Given the description of an element on the screen output the (x, y) to click on. 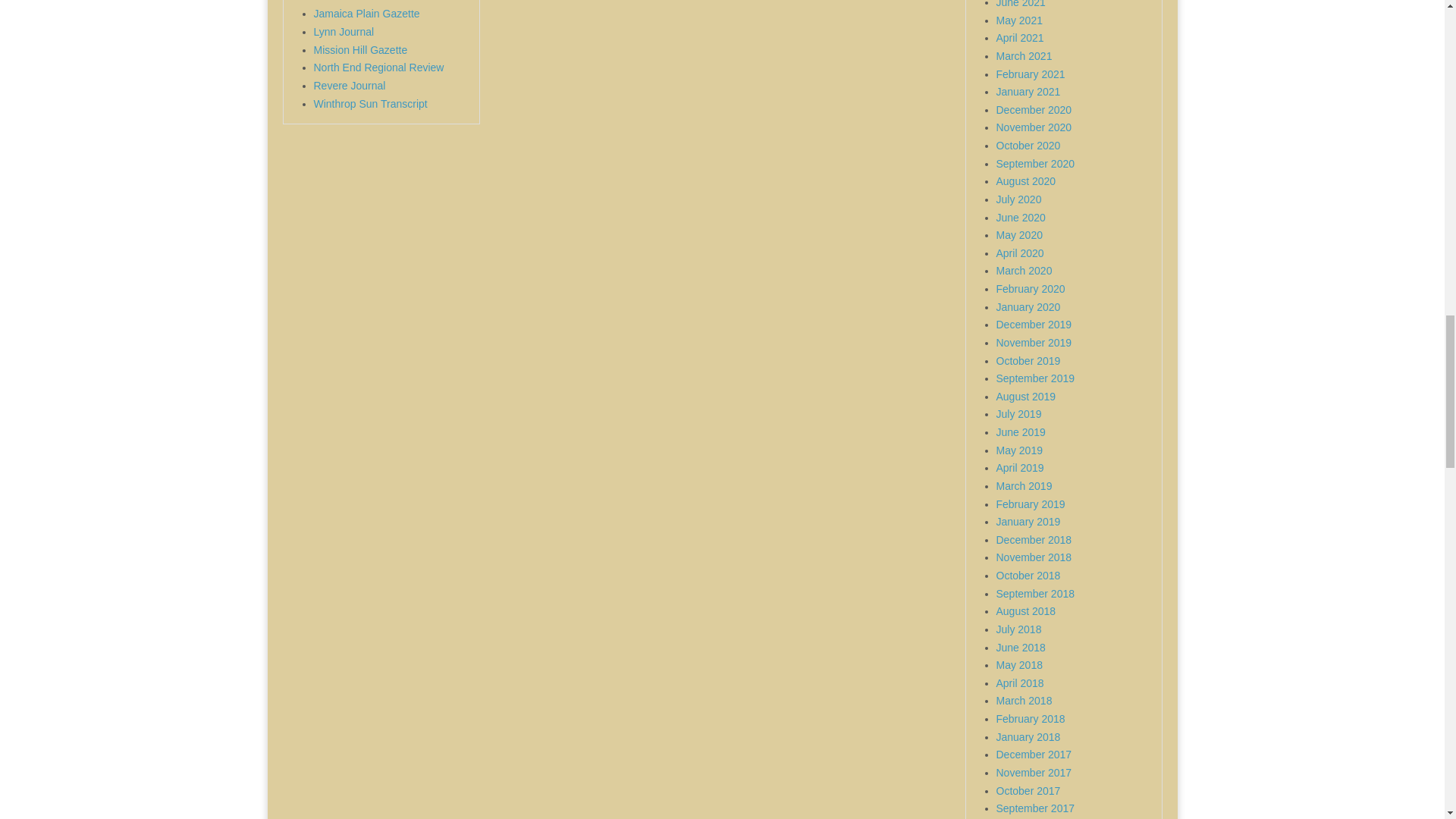
Jamaica Plain Gazette (367, 13)
Lynn Journal (344, 31)
East Boston Times Free Press (385, 1)
